Given the description of an element on the screen output the (x, y) to click on. 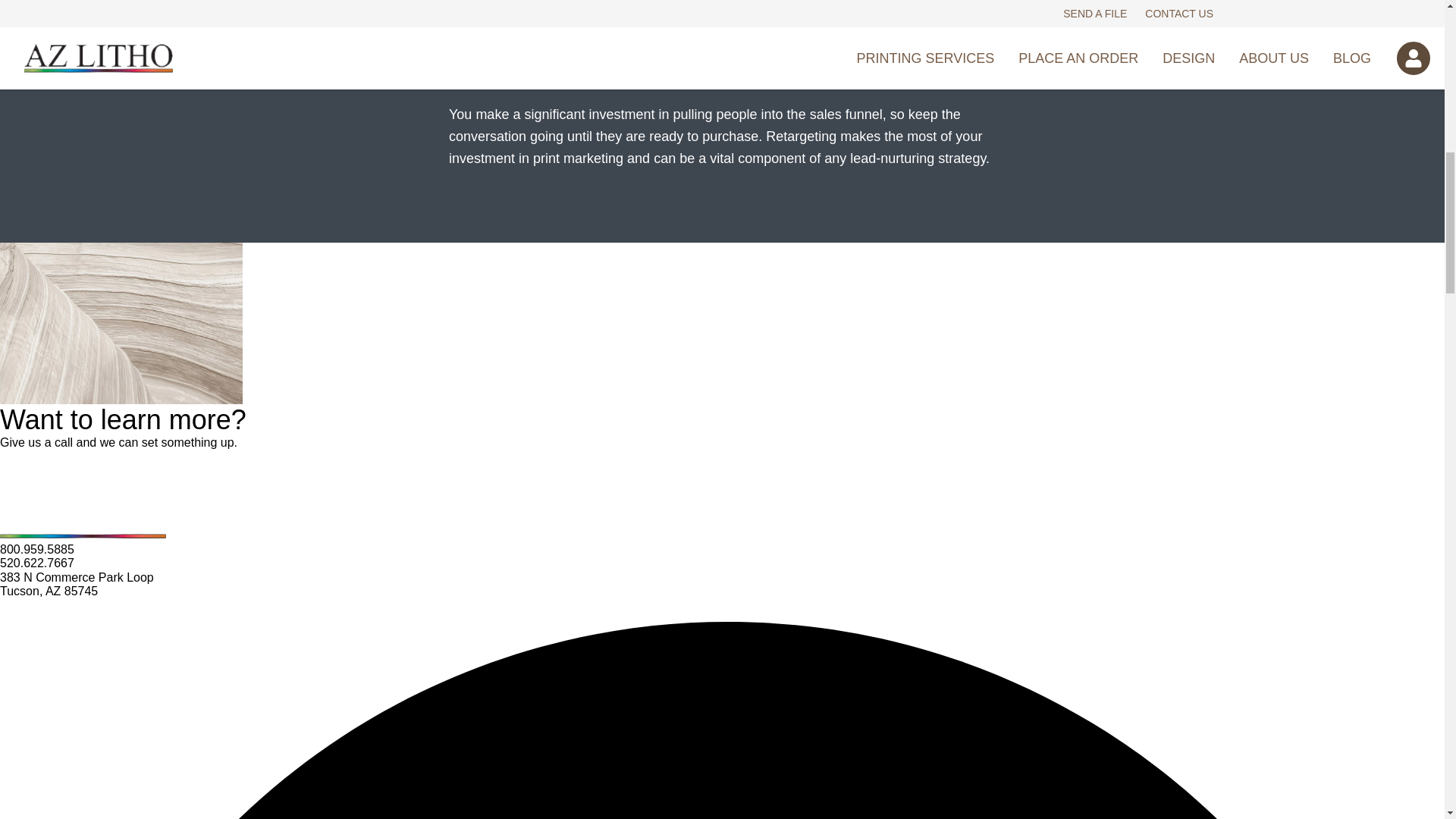
CONTACT US (52, 481)
800.959.5885 (37, 549)
